Given the description of an element on the screen output the (x, y) to click on. 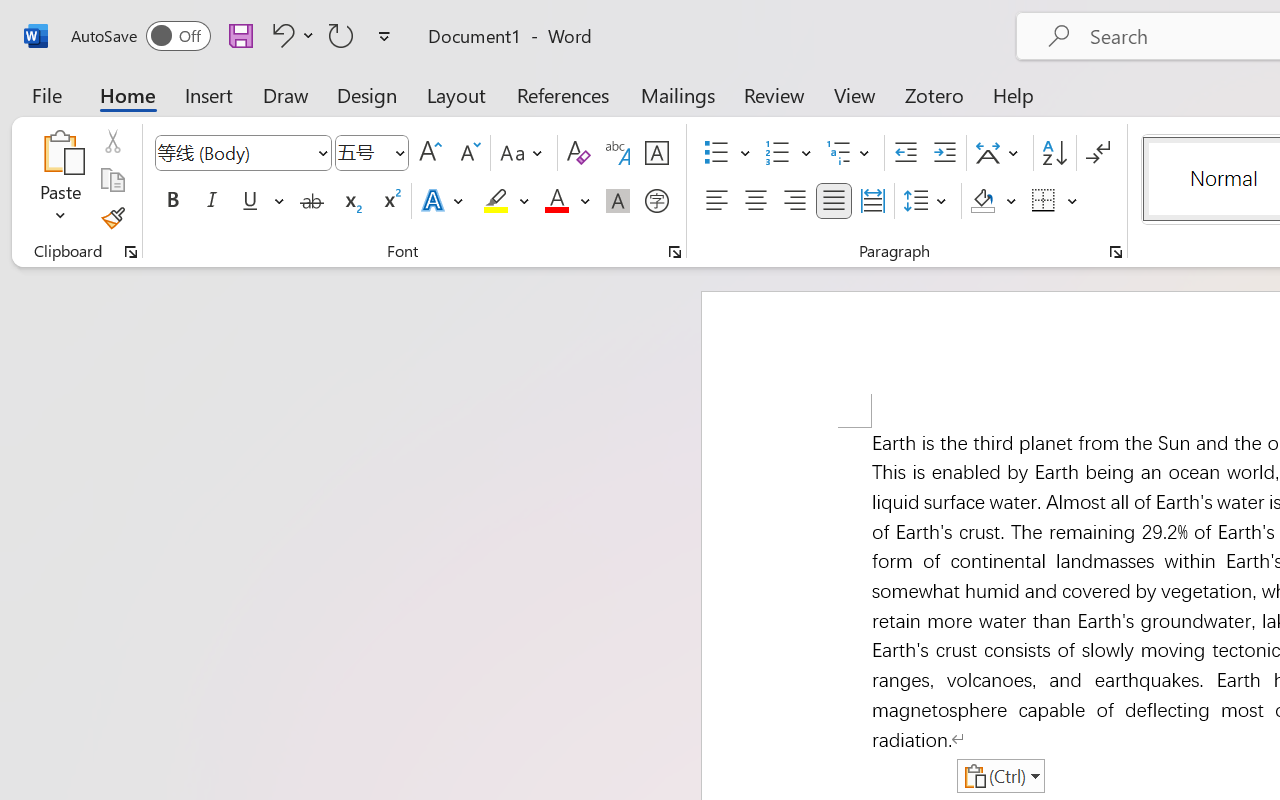
Action: Paste alternatives (1000, 775)
Decrease Indent (906, 153)
Strikethrough (312, 201)
Text Highlight Color (506, 201)
Asian Layout (1000, 153)
Enclose Characters... (656, 201)
Align Right (794, 201)
Font Color Red (556, 201)
Shrink Font (468, 153)
Multilevel List (850, 153)
